Given the description of an element on the screen output the (x, y) to click on. 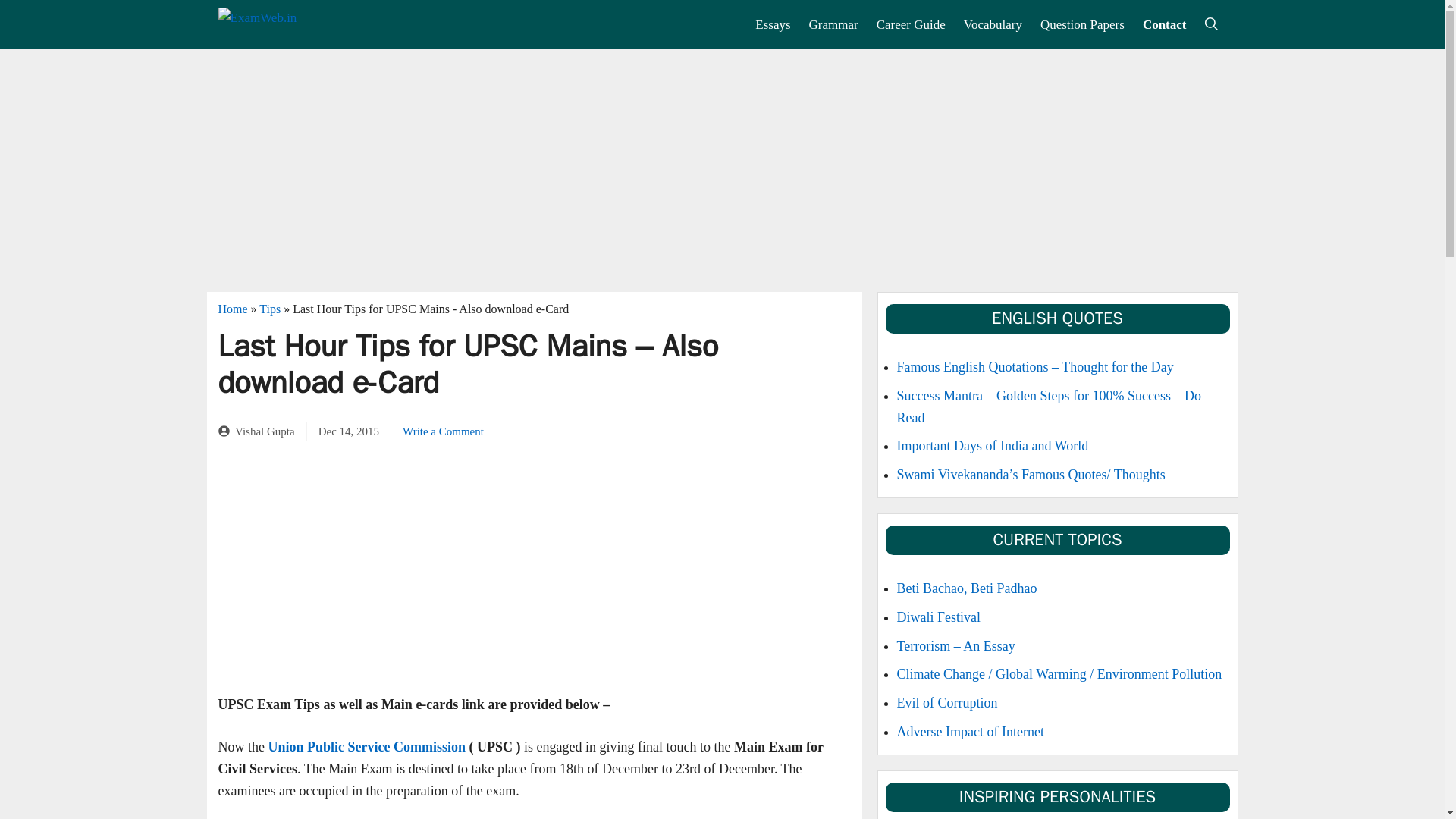
Contact (1164, 24)
Write a Comment (443, 431)
Career Guide (911, 24)
Essays (772, 24)
Vocabulary (992, 24)
Tips (270, 308)
ExamWeb.in (291, 24)
Home (232, 308)
Important Days of India and World (991, 445)
Question Papers (1082, 24)
Grammar (833, 24)
Diwali Festival (937, 616)
Adverse Impact of Internet (969, 731)
Beti Bachao, Beti Padhao (966, 588)
Evil of Corruption (946, 702)
